Given the description of an element on the screen output the (x, y) to click on. 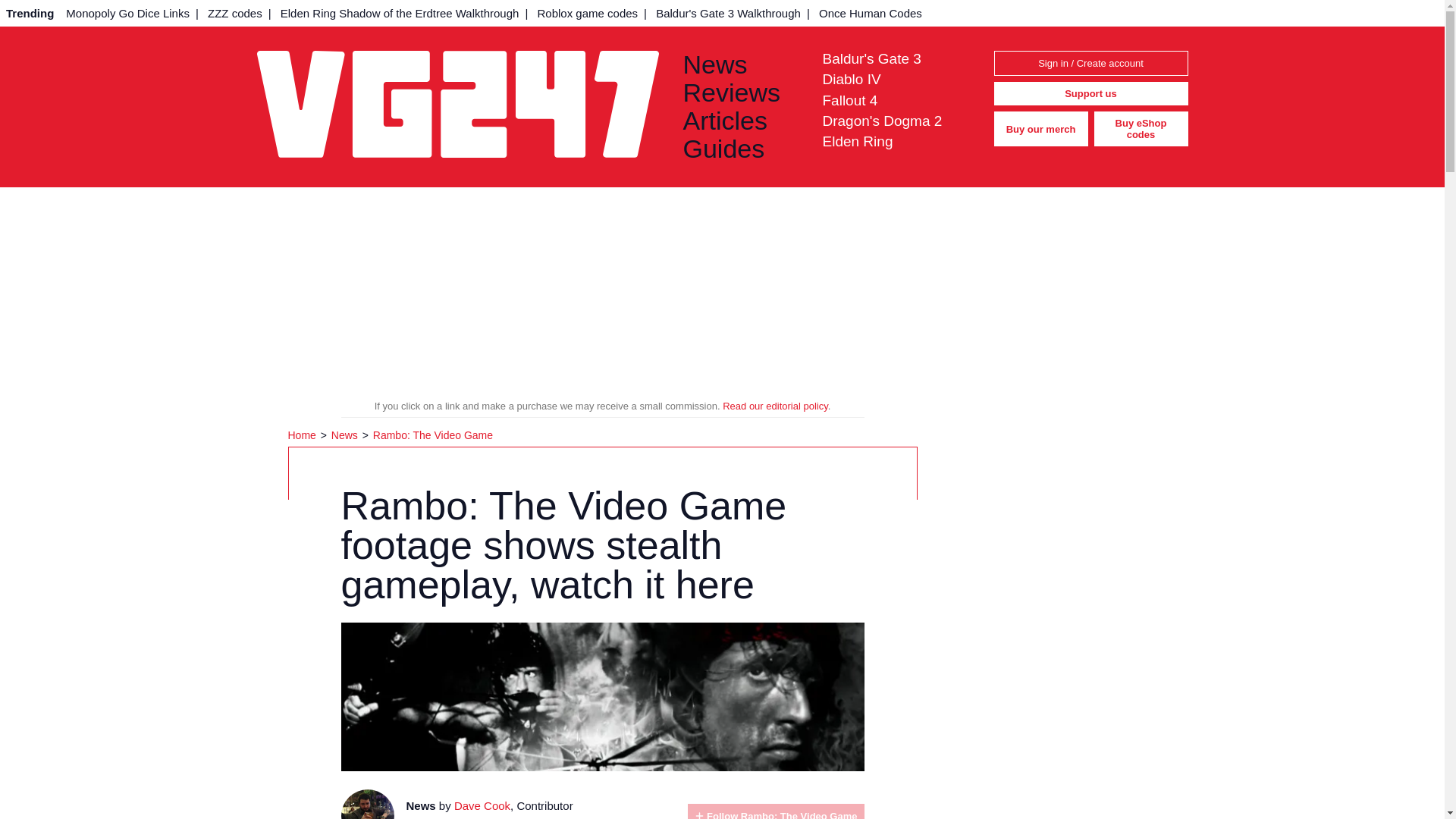
Baldur's Gate 3 Walkthrough (727, 13)
Buy our merch (1039, 128)
Reviews (739, 92)
Elden Ring (857, 141)
News (739, 64)
Baldur's Gate 3 (871, 58)
Baldur's Gate 3 Walkthrough (727, 13)
ZZZ codes (234, 13)
Elden Ring Shadow of the Erdtree Walkthrough (400, 13)
Once Human Codes (870, 13)
Roblox game codes (587, 13)
Dragon's Dogma 2 (882, 120)
Rambo: The Video Game (432, 435)
Baldur's Gate 3 (871, 58)
Dragon's Dogma 2 (882, 120)
